Given the description of an element on the screen output the (x, y) to click on. 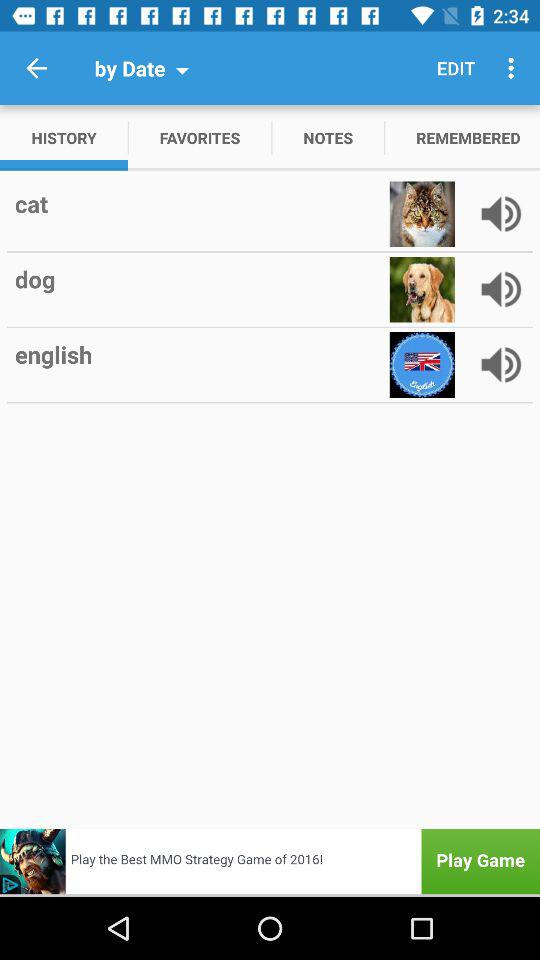
turn on icon to the right of edit item (513, 67)
